Given the description of an element on the screen output the (x, y) to click on. 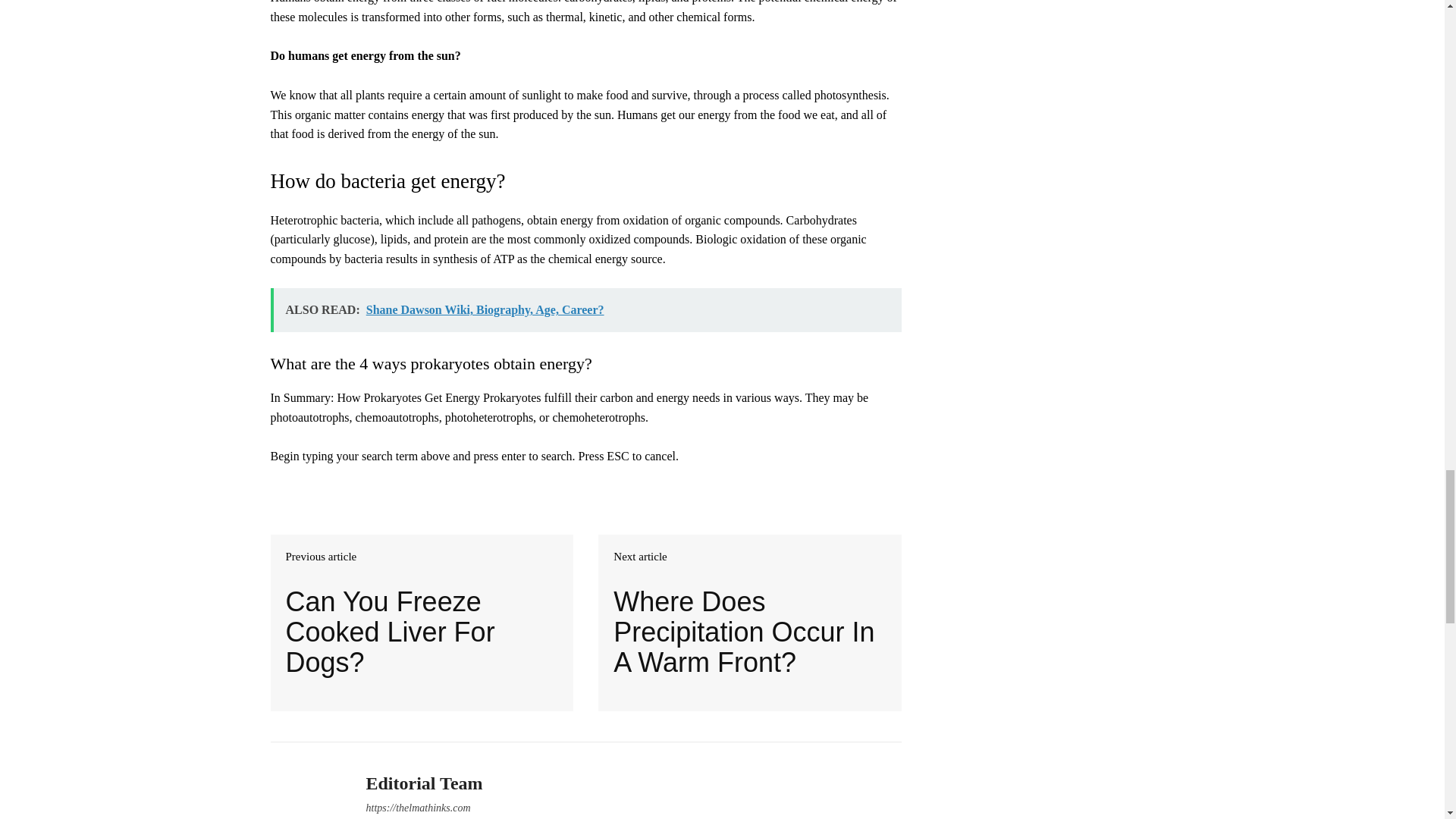
Can You Freeze Cooked Liver For Dogs? (421, 632)
Where Does Precipitation Occur In A Warm Front? (749, 632)
ALSO READ:  Shane Dawson Wiki, Biography, Age, Career? (585, 310)
Editorial Team (305, 788)
Editorial Team (423, 783)
